Given the description of an element on the screen output the (x, y) to click on. 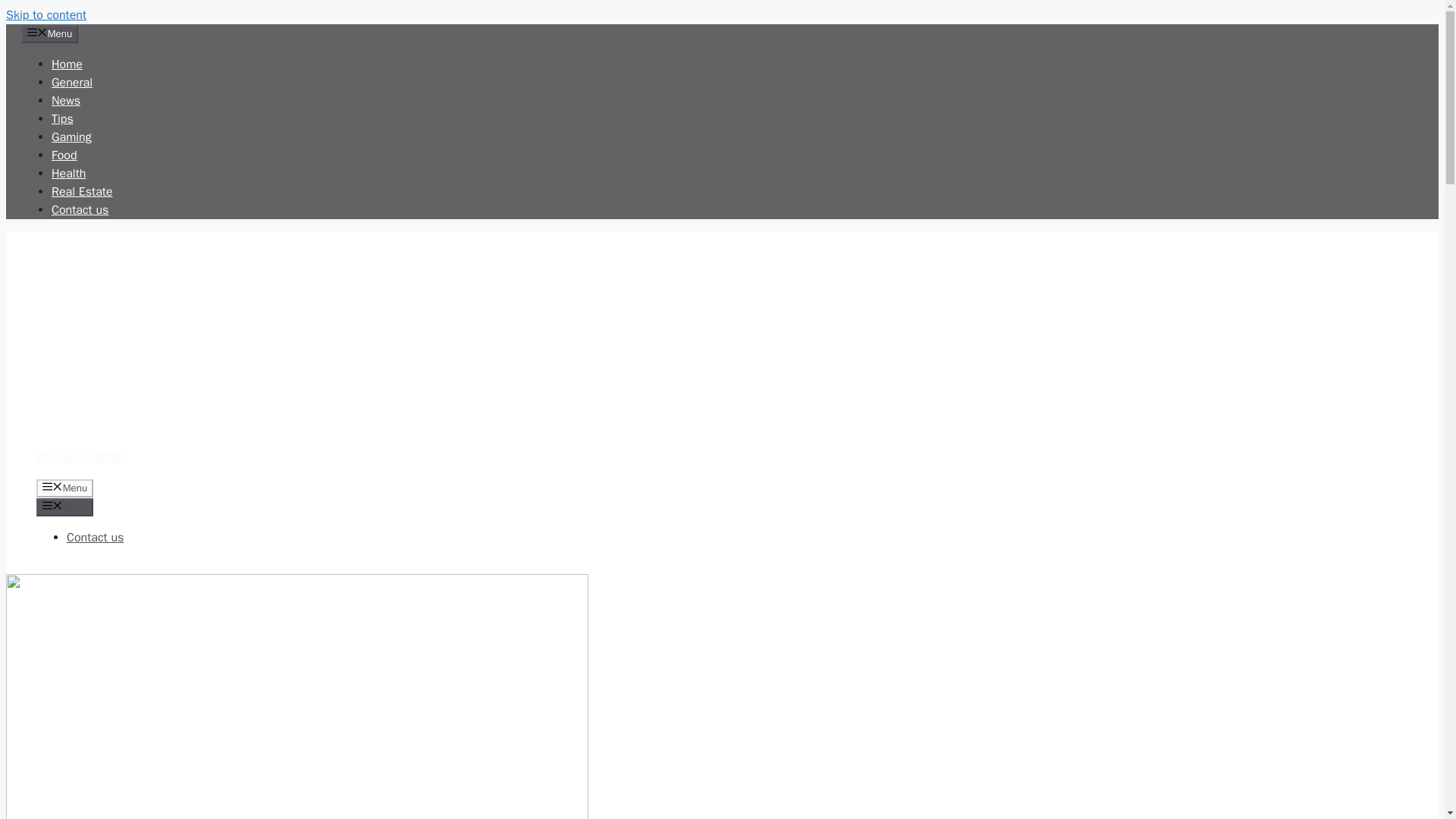
News (65, 100)
Menu (64, 488)
Skip to content (45, 14)
Menu (49, 34)
Food (63, 155)
General (71, 82)
Tips (62, 118)
Gaming (70, 136)
Real Estate (81, 191)
Contact us (94, 537)
